Given the description of an element on the screen output the (x, y) to click on. 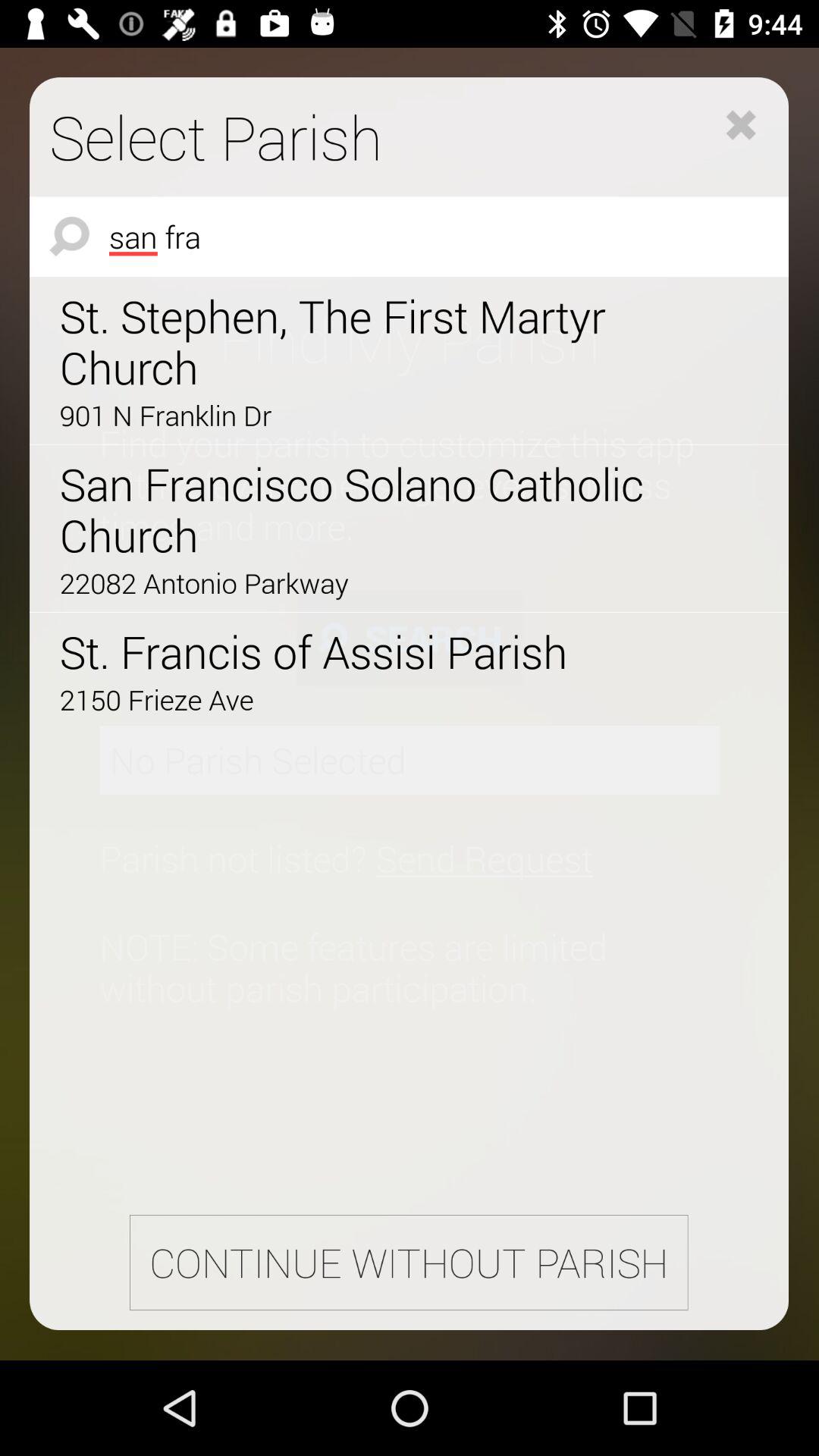
select the icon below the st francis of (366, 699)
